Given the description of an element on the screen output the (x, y) to click on. 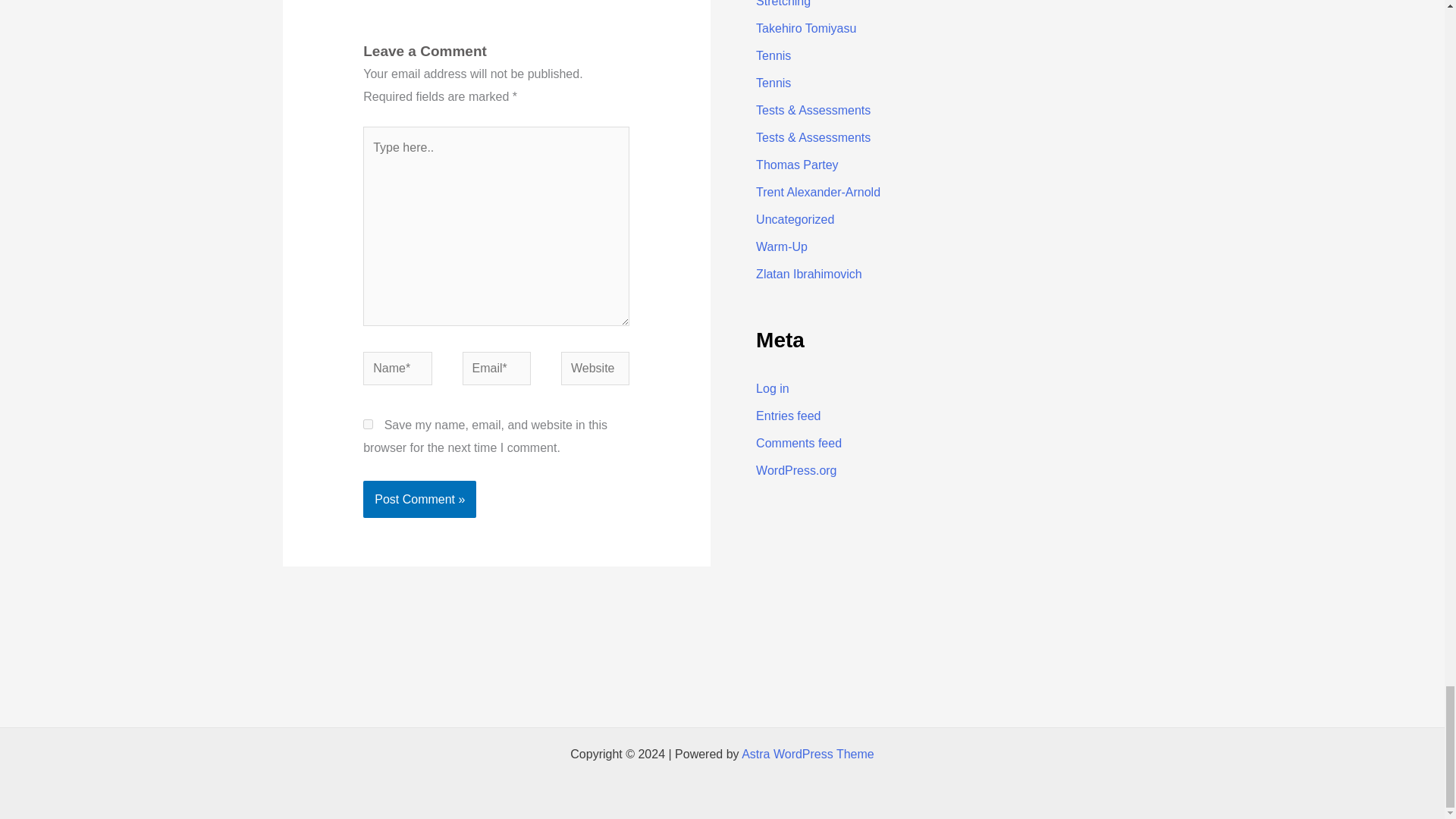
yes (367, 424)
